Given the description of an element on the screen output the (x, y) to click on. 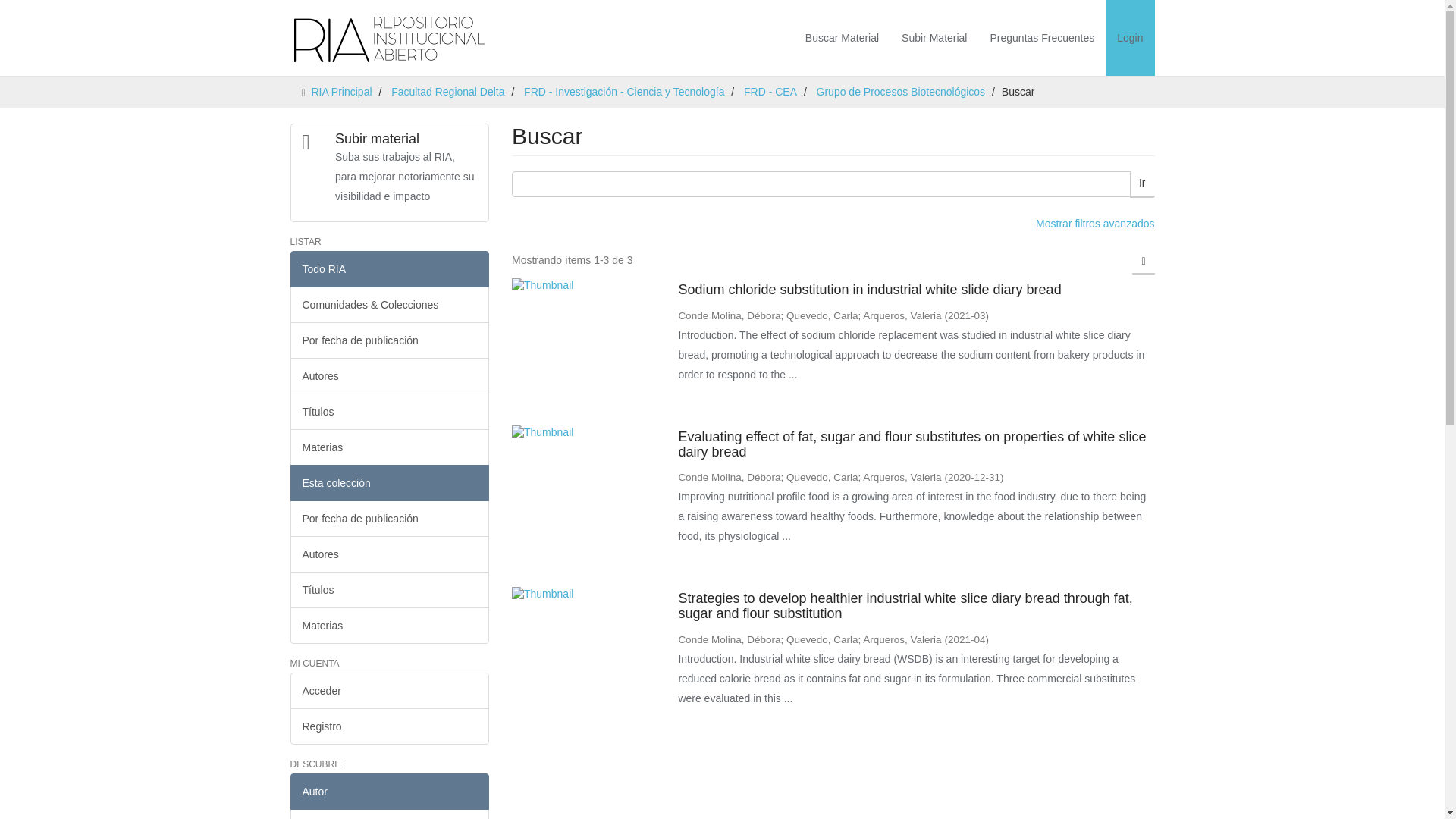
Facultad Regional Delta (447, 91)
Autores (389, 554)
Registro (389, 726)
FRD - CEA (770, 91)
Acceder (389, 690)
Todo RIA (389, 268)
RIA Principal (341, 91)
Materias (389, 625)
Autores (389, 375)
